Given the description of an element on the screen output the (x, y) to click on. 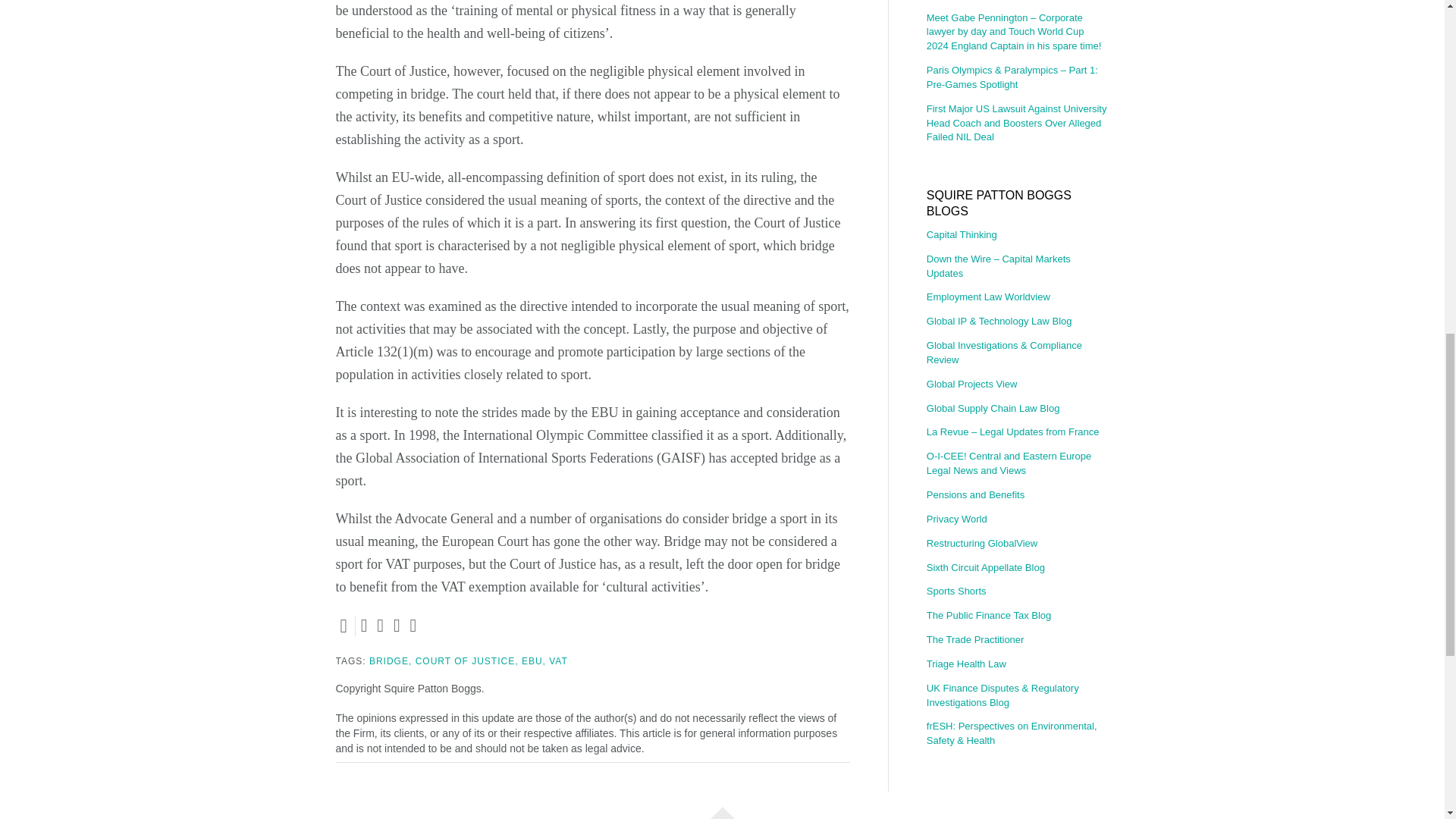
BRIDGE, (390, 661)
Capital Thinking (1017, 237)
VAT (557, 661)
COURT OF JUSTICE, (466, 661)
Employment Law Worldview (1017, 297)
EBU, (533, 661)
